Given the description of an element on the screen output the (x, y) to click on. 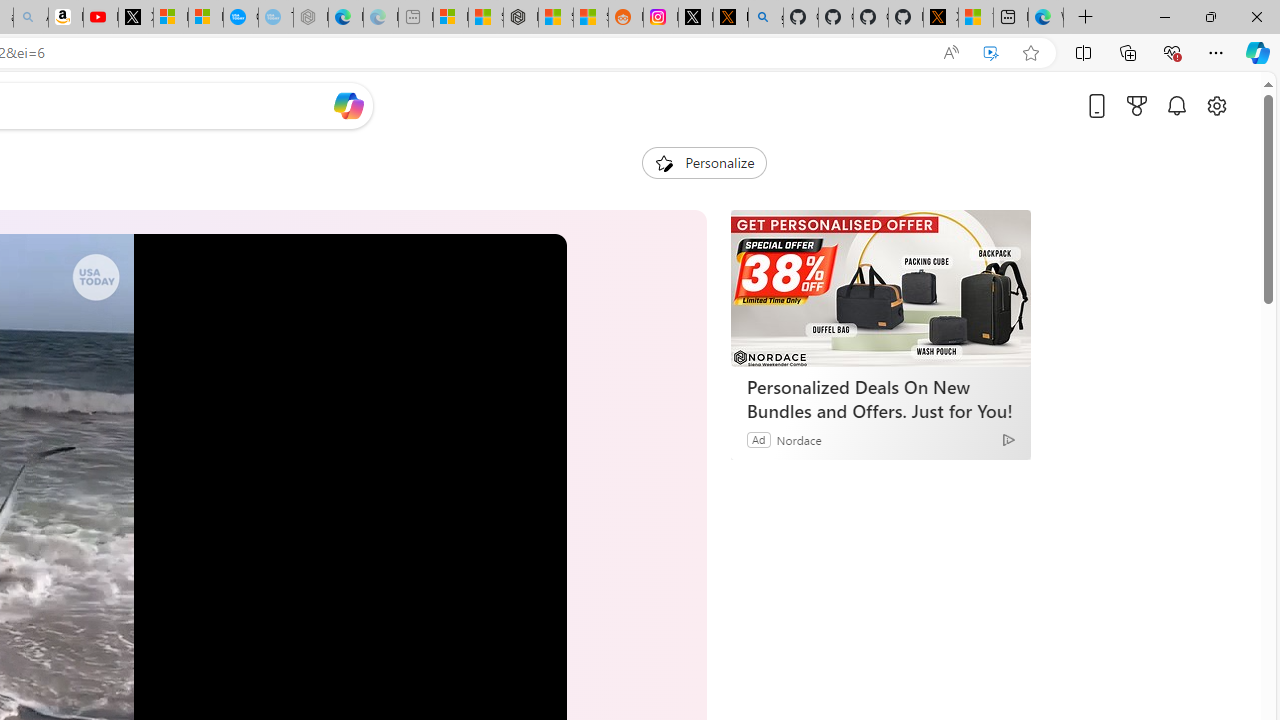
Log in to X / X (695, 17)
Personalized Deals On New Bundles and Offers. Just for You! (879, 288)
Enhance video (991, 53)
